Given the description of an element on the screen output the (x, y) to click on. 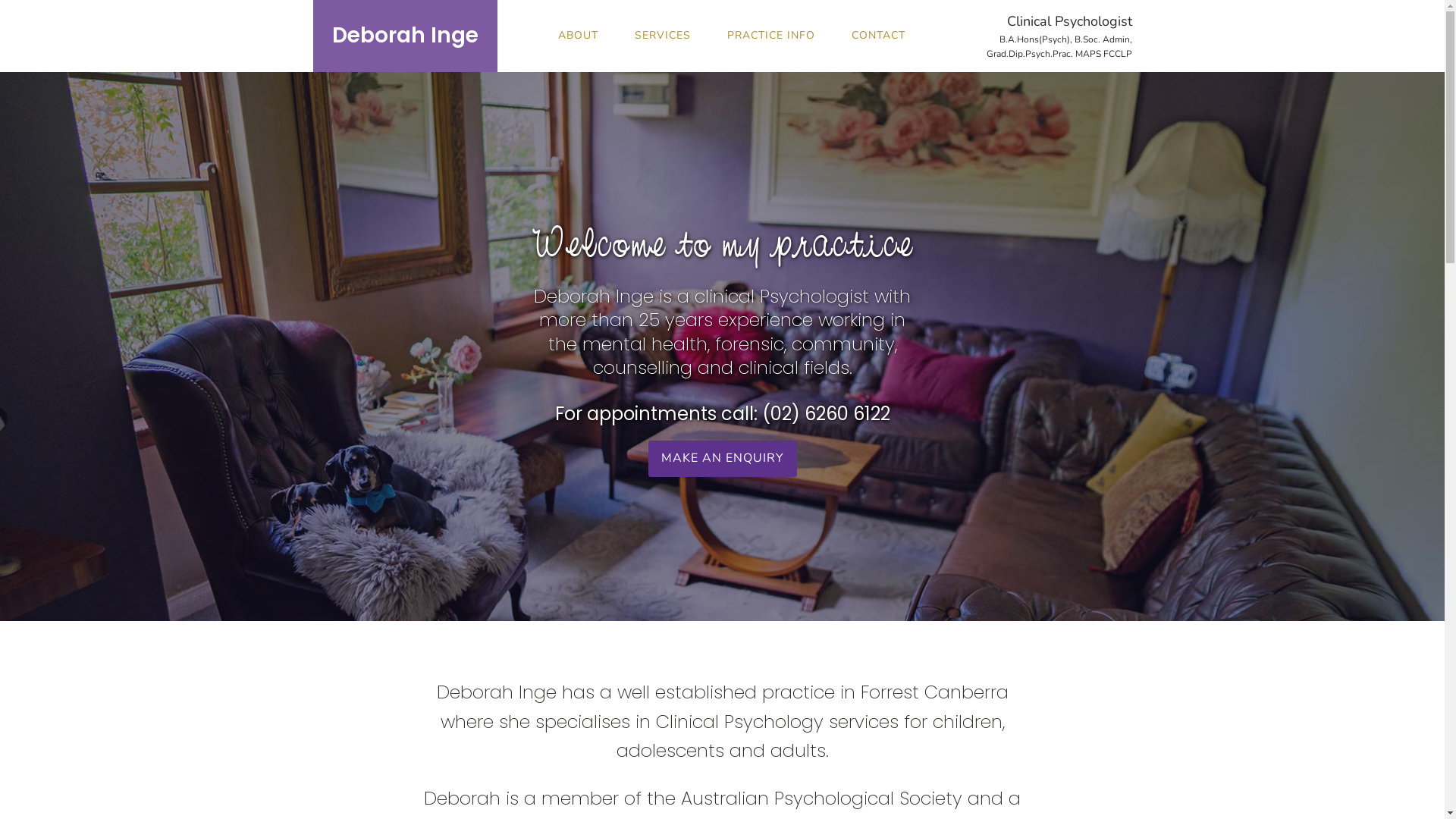
CONTACT Element type: text (878, 35)
MAKE AN ENQUIRY Element type: text (721, 458)
6260 6122 Element type: text (846, 413)
ABOUT Element type: text (577, 35)
Deborah Inge Element type: text (404, 36)
(02) Element type: text (779, 413)
SERVICES Element type: text (662, 35)
PRACTICE INFO Element type: text (771, 35)
